Given the description of an element on the screen output the (x, y) to click on. 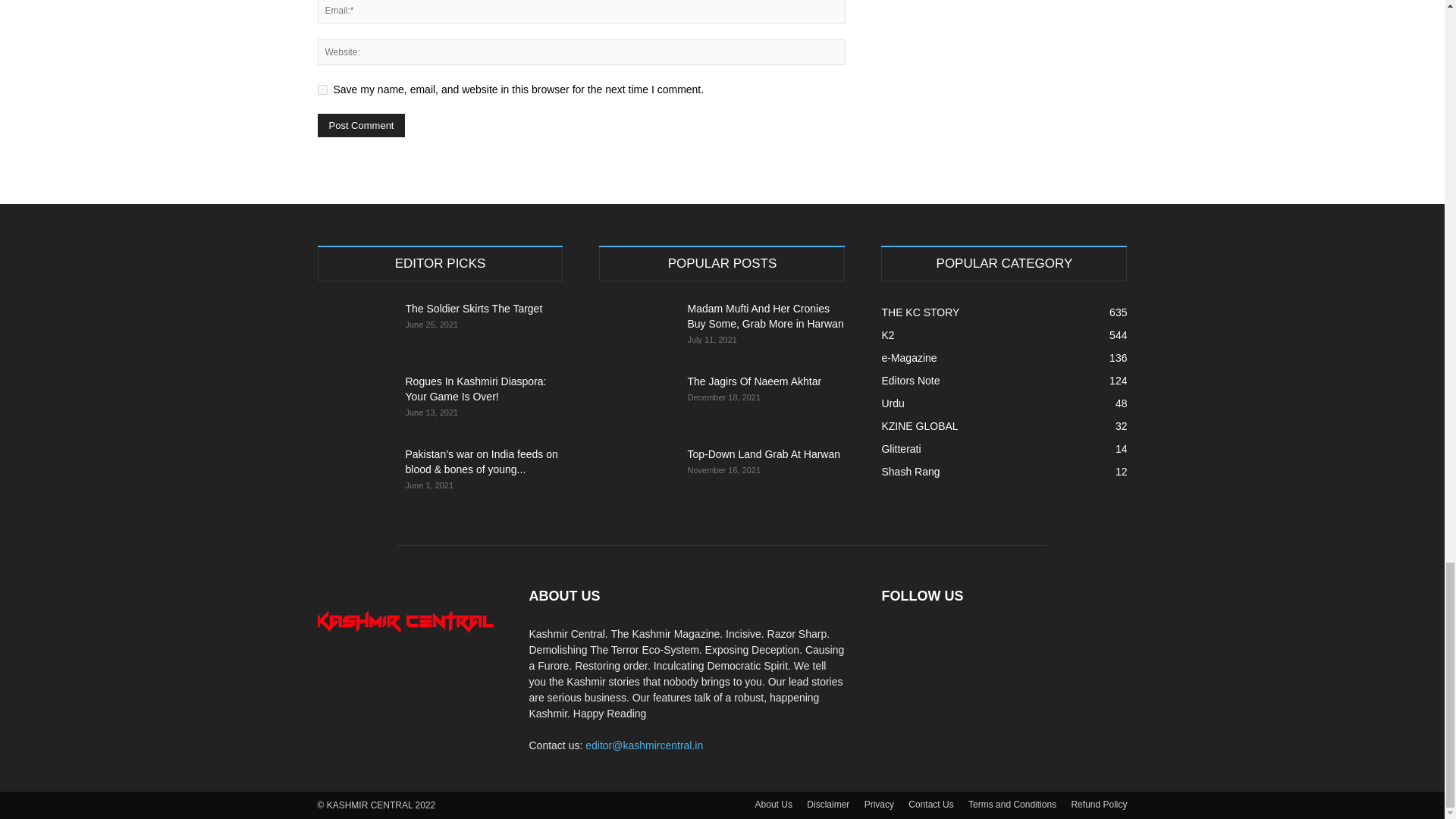
Post Comment (360, 125)
yes (321, 90)
